Given the description of an element on the screen output the (x, y) to click on. 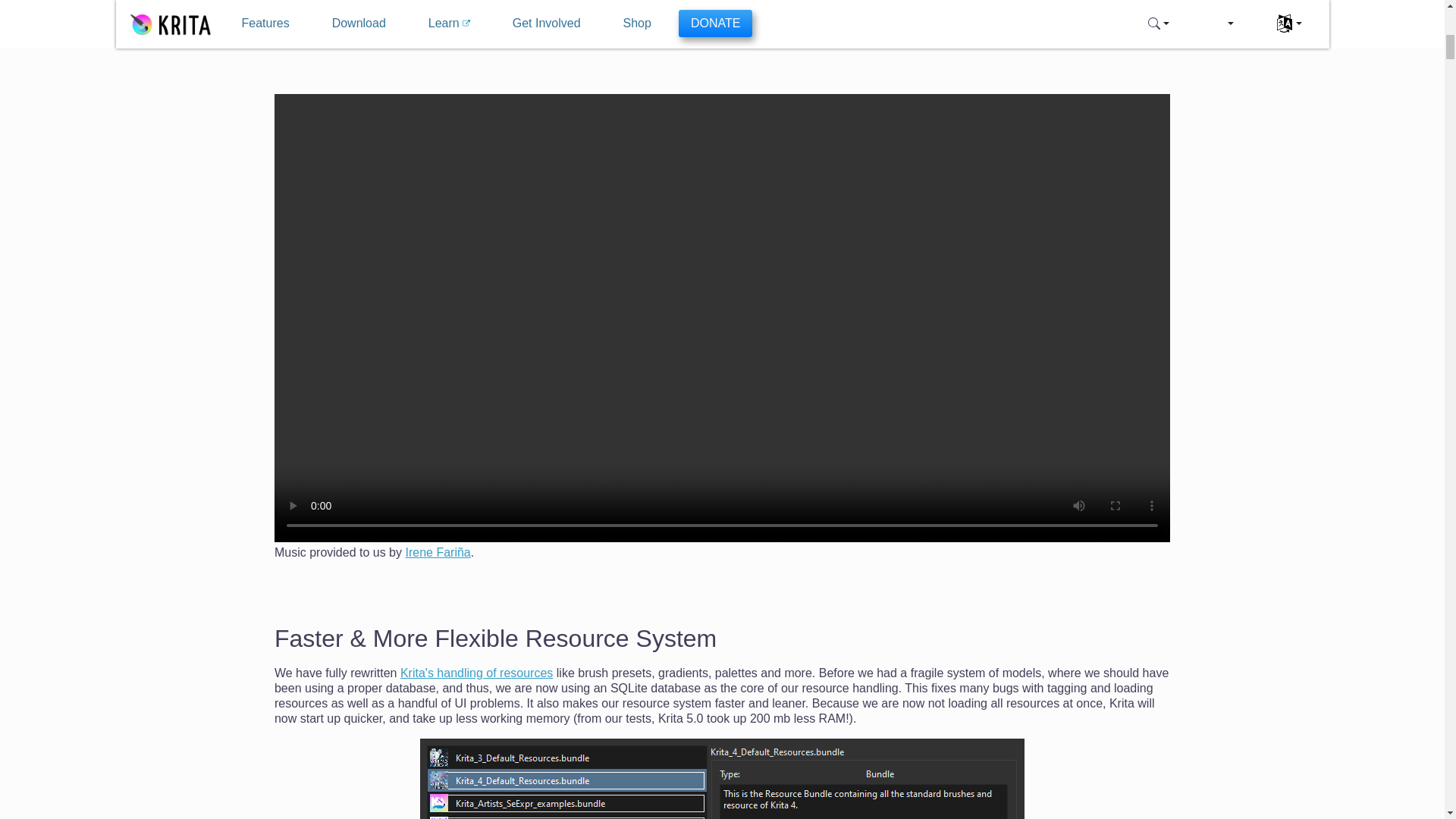
Krita's handling of resources (476, 672)
